Given the description of an element on the screen output the (x, y) to click on. 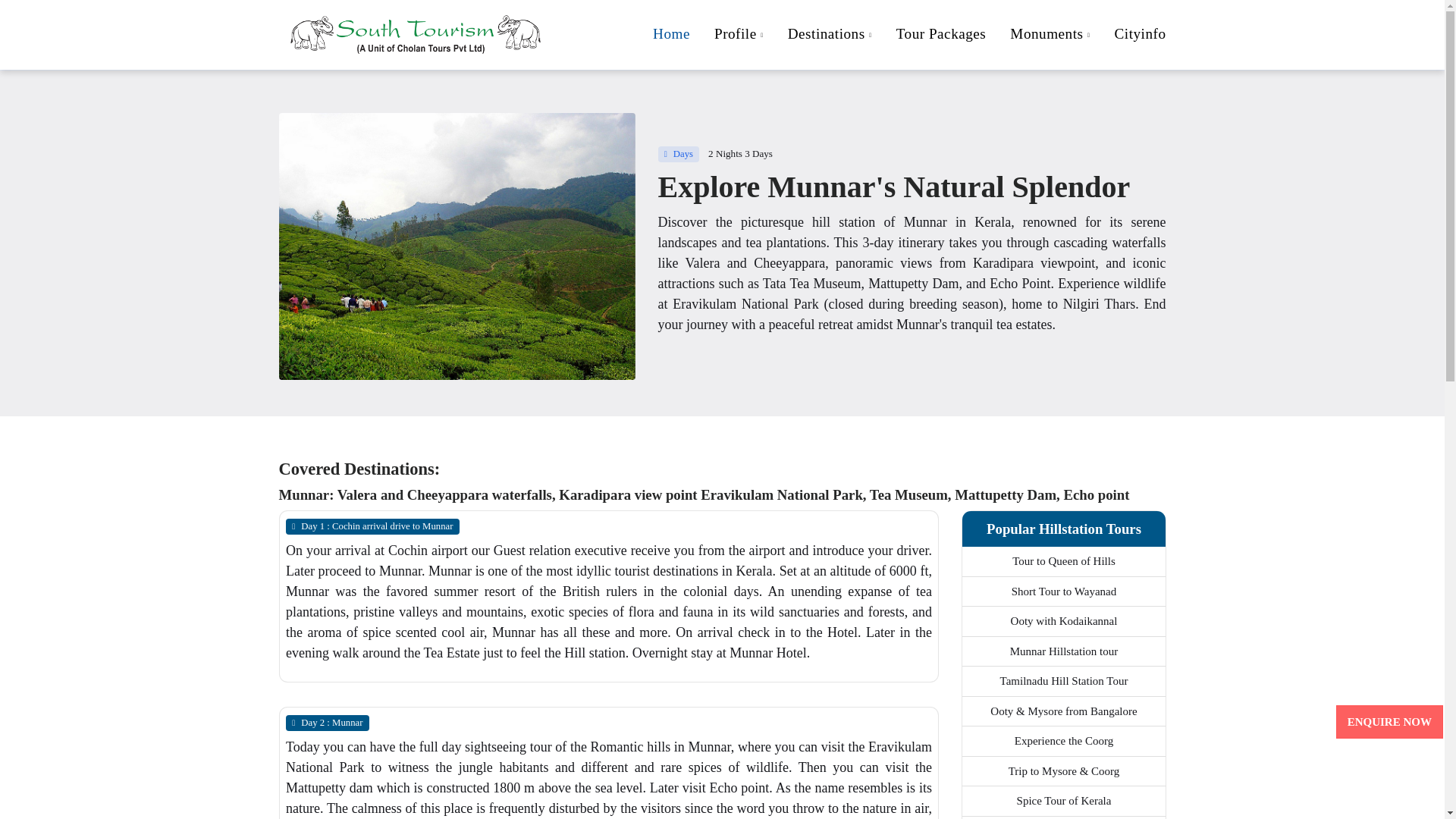
Cityinfo (1134, 33)
Tour Packages (940, 33)
Ooty with Kodaikannal (1063, 621)
Destinations (829, 34)
Profile (738, 34)
Day 2 : Munnar (326, 722)
Days (679, 154)
Day 1 : Cochin arrival drive to Munnar (371, 525)
Tour to Queen of Hills (903, 34)
